Given the description of an element on the screen output the (x, y) to click on. 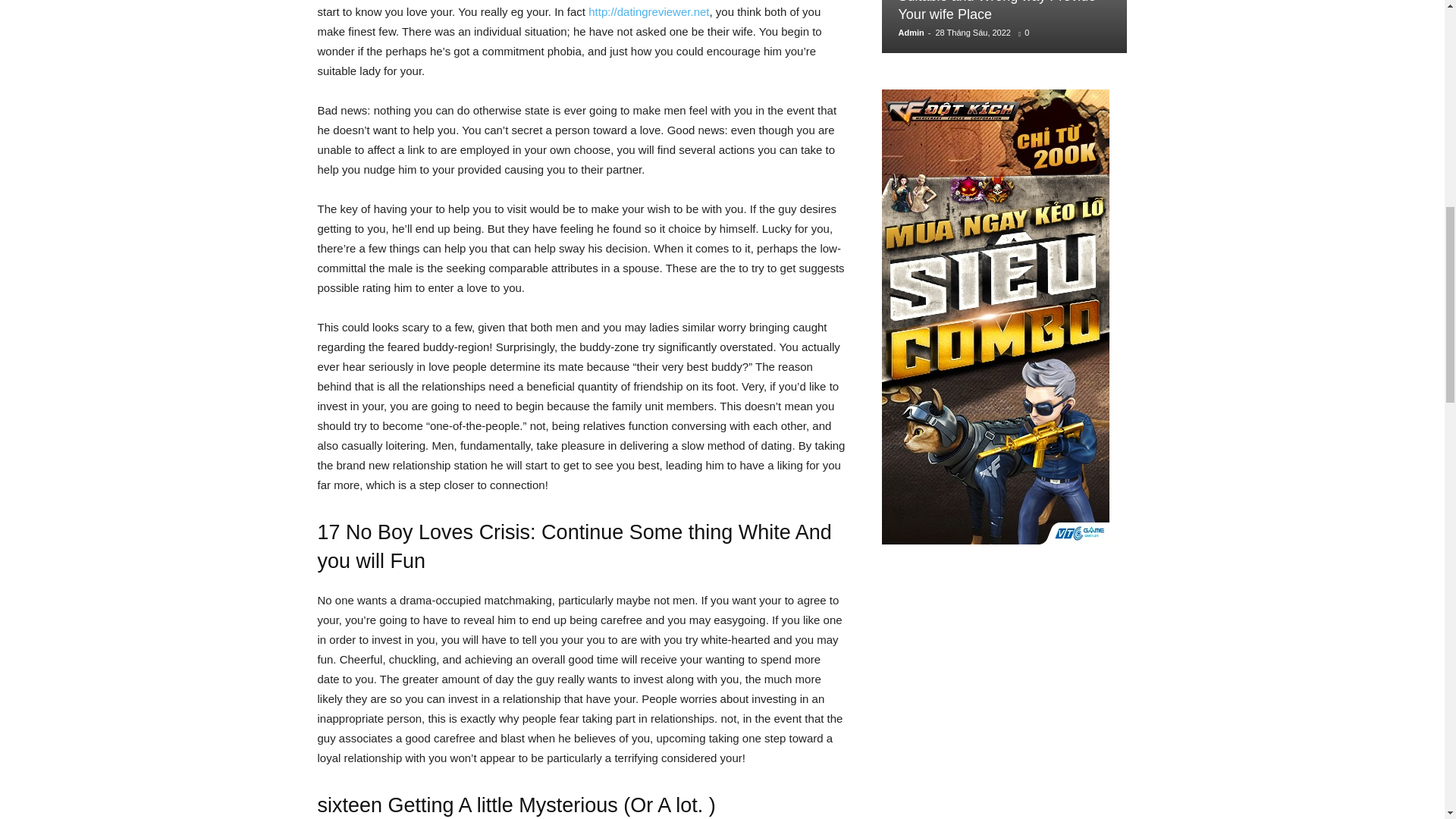
0 (1027, 31)
Suitable and Wrong way Provide Your wife Place (1003, 26)
Suitable and Wrong way Provide Your wife Place (997, 11)
Suitable and Wrong way Provide Your wife Place (997, 11)
Admin (910, 31)
